Given the description of an element on the screen output the (x, y) to click on. 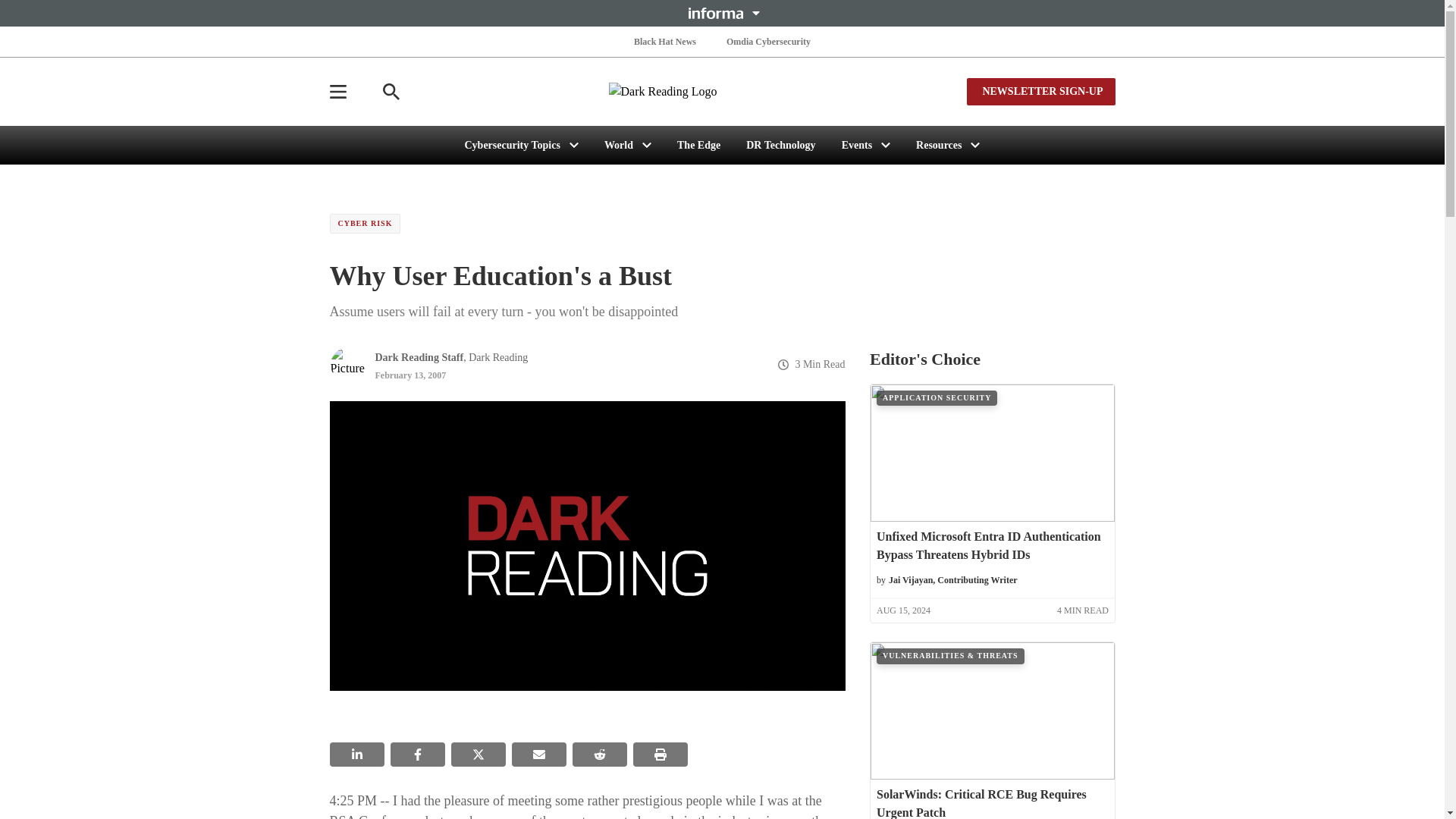
Dark Reading Logo (721, 91)
Omdia Cybersecurity (768, 41)
NEWSLETTER SIGN-UP (1040, 90)
Picture of Dark Reading Staff (347, 364)
Black Hat News (664, 41)
